Given the description of an element on the screen output the (x, y) to click on. 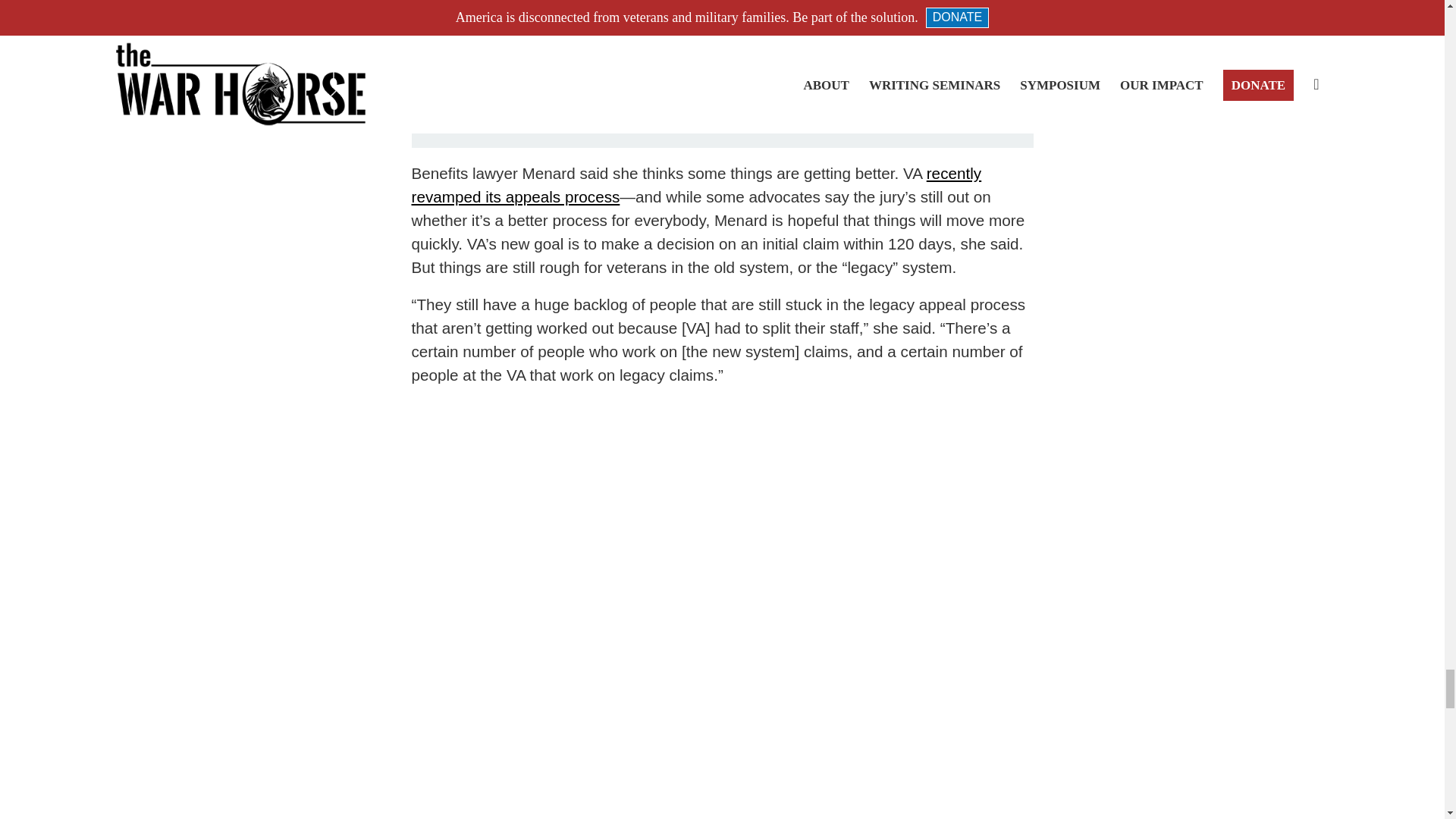
Subscribe for free (912, 102)
